Given the description of an element on the screen output the (x, y) to click on. 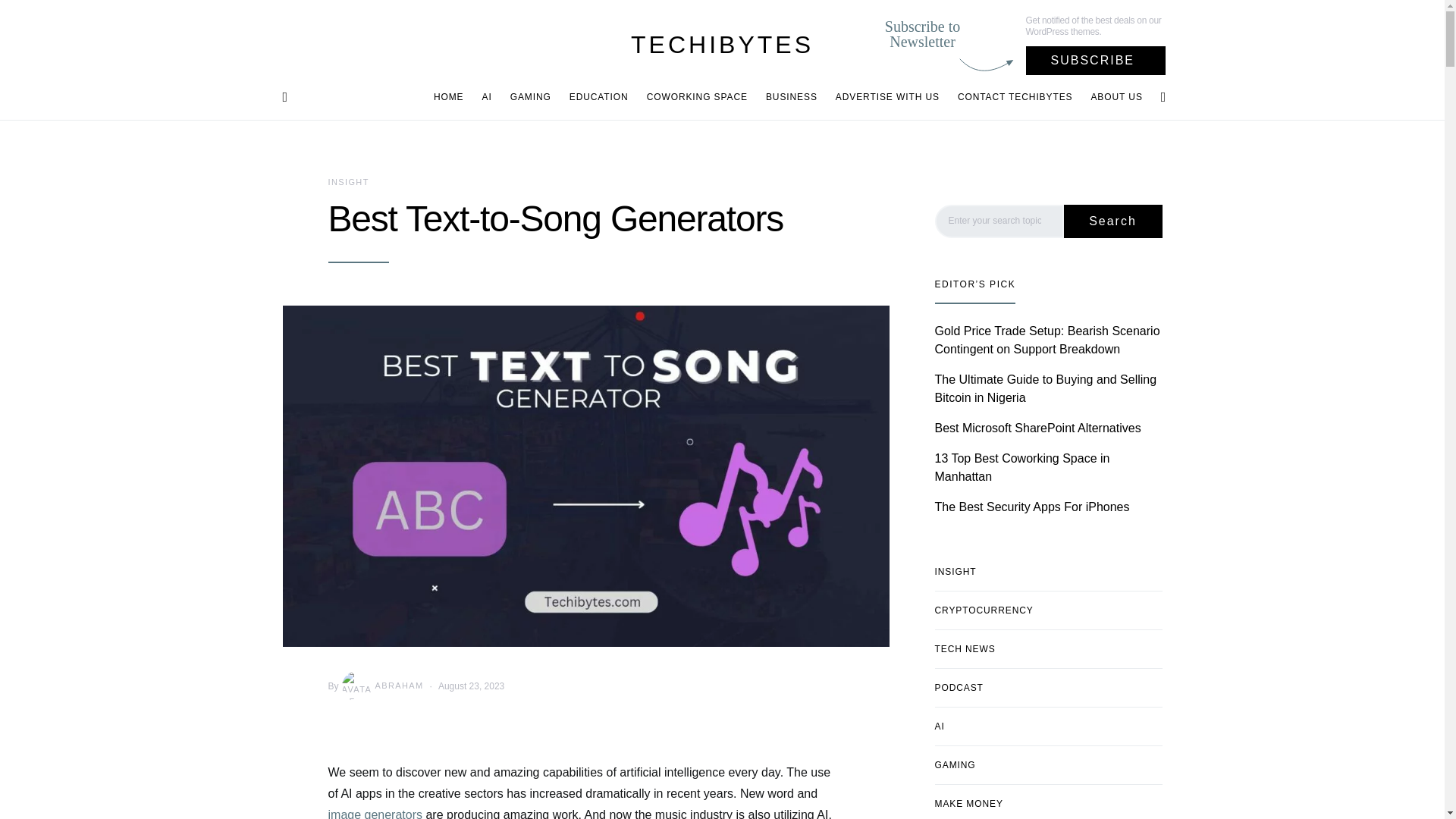
GAMING (530, 96)
INSIGHT (347, 181)
CONTACT TECHIBYTES (1015, 96)
ADVERTISE WITH US (888, 96)
ABOUT US (1111, 96)
BUSINESS (792, 96)
ABRAHAM (381, 685)
EDUCATION (598, 96)
image generators (376, 813)
View all posts by Abraham (381, 685)
SUBSCRIBE (1096, 60)
COWORKING SPACE (697, 96)
TECHIBYTES (721, 44)
